Given the description of an element on the screen output the (x, y) to click on. 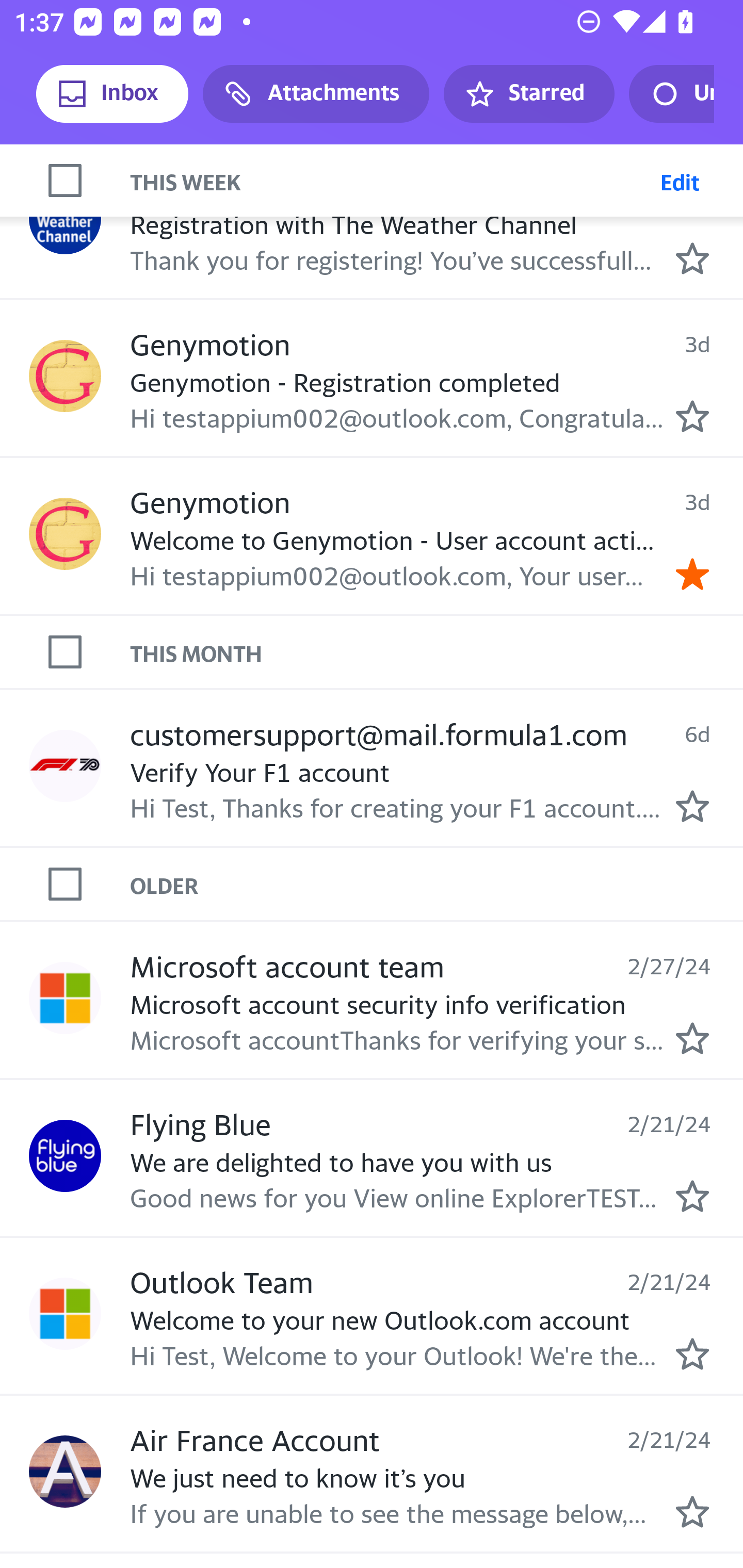
Attachments (315, 93)
Starred (528, 93)
Mark as starred. (692, 257)
Profile
Genymotion (64, 376)
Mark as starred. (692, 416)
Profile
Genymotion (64, 533)
Remove star. (692, 574)
THIS MONTH (436, 651)
Profile
customersupport@mail.formula1.com (64, 765)
Mark as starred. (692, 806)
OLDER (436, 883)
Profile
Microsoft account team (64, 997)
Mark as starred. (692, 1038)
Profile
Flying Blue (64, 1155)
Mark as starred. (692, 1195)
Profile
Outlook Team (64, 1313)
Mark as starred. (692, 1353)
Profile
Air France Account (64, 1471)
Mark as starred. (692, 1512)
